Given the description of an element on the screen output the (x, y) to click on. 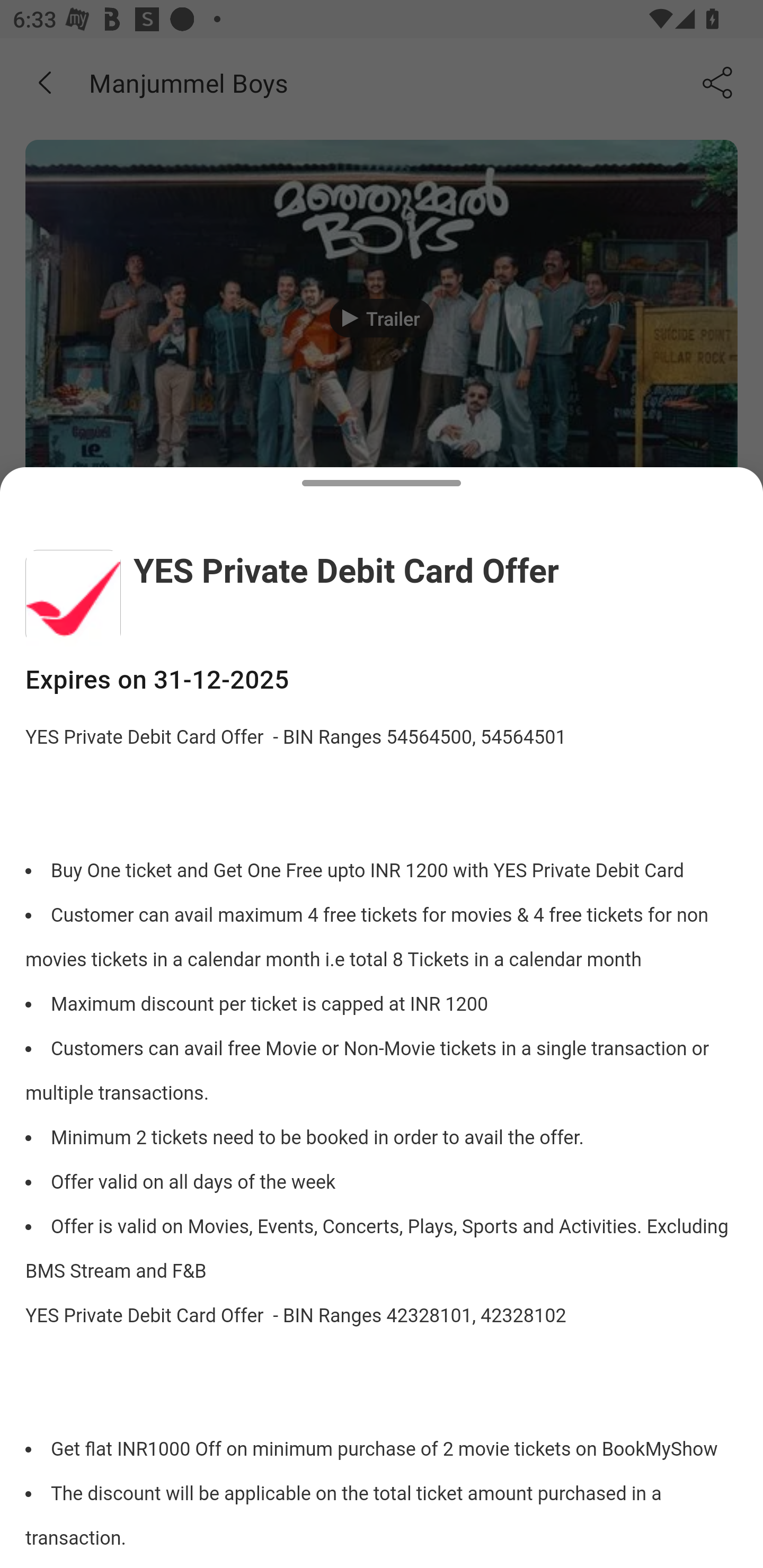
Expires on 31-12-2025 (381, 680)
